Given the description of an element on the screen output the (x, y) to click on. 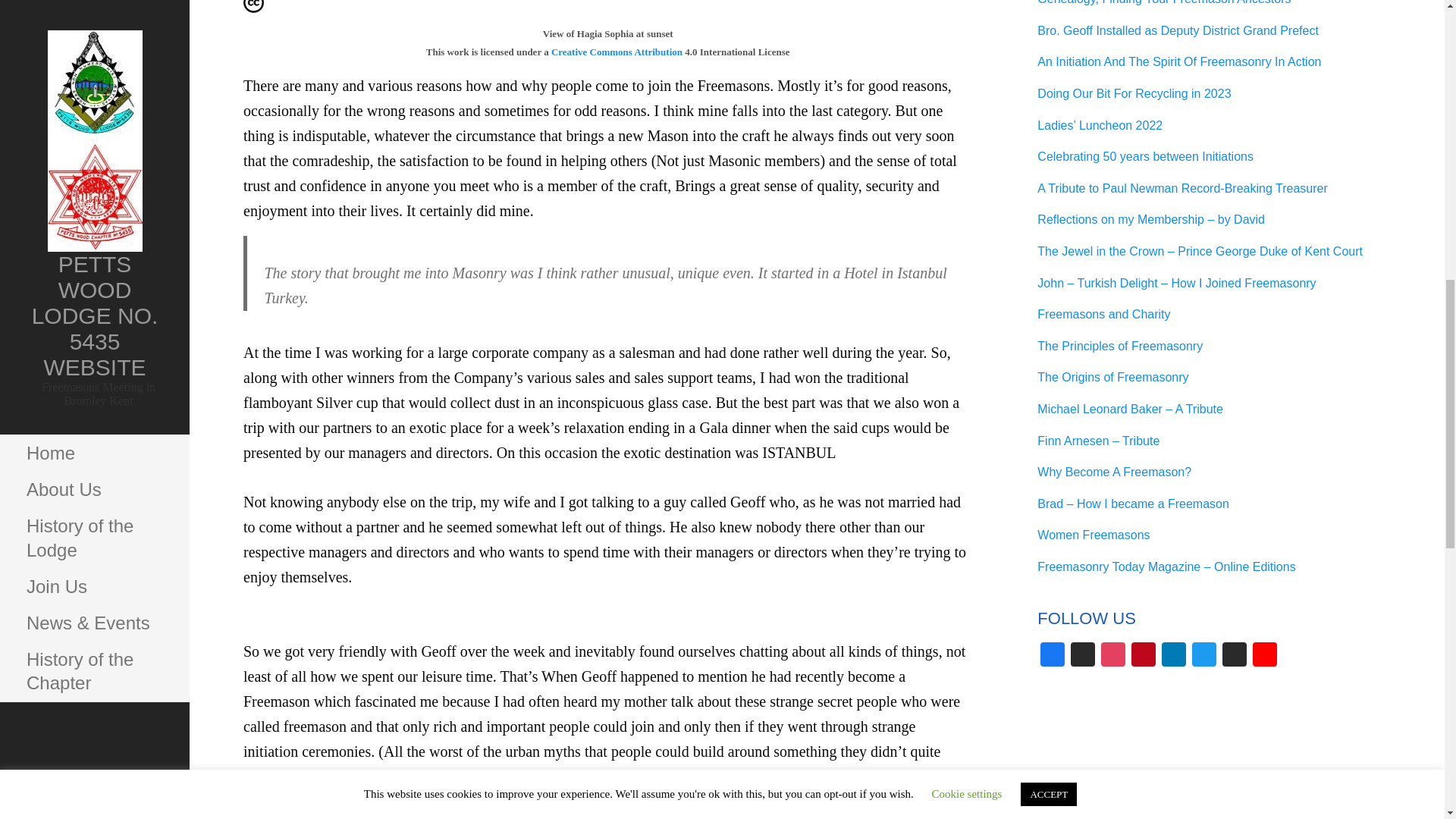
Creative Commons Attribution (616, 51)
Pinterest (1143, 656)
Instagram (1112, 656)
Facebook (1051, 656)
YouTube Channel (1264, 656)
LinkedIn Company (1173, 656)
X (1234, 656)
Twitter (1204, 656)
Threads (1082, 656)
